Given the description of an element on the screen output the (x, y) to click on. 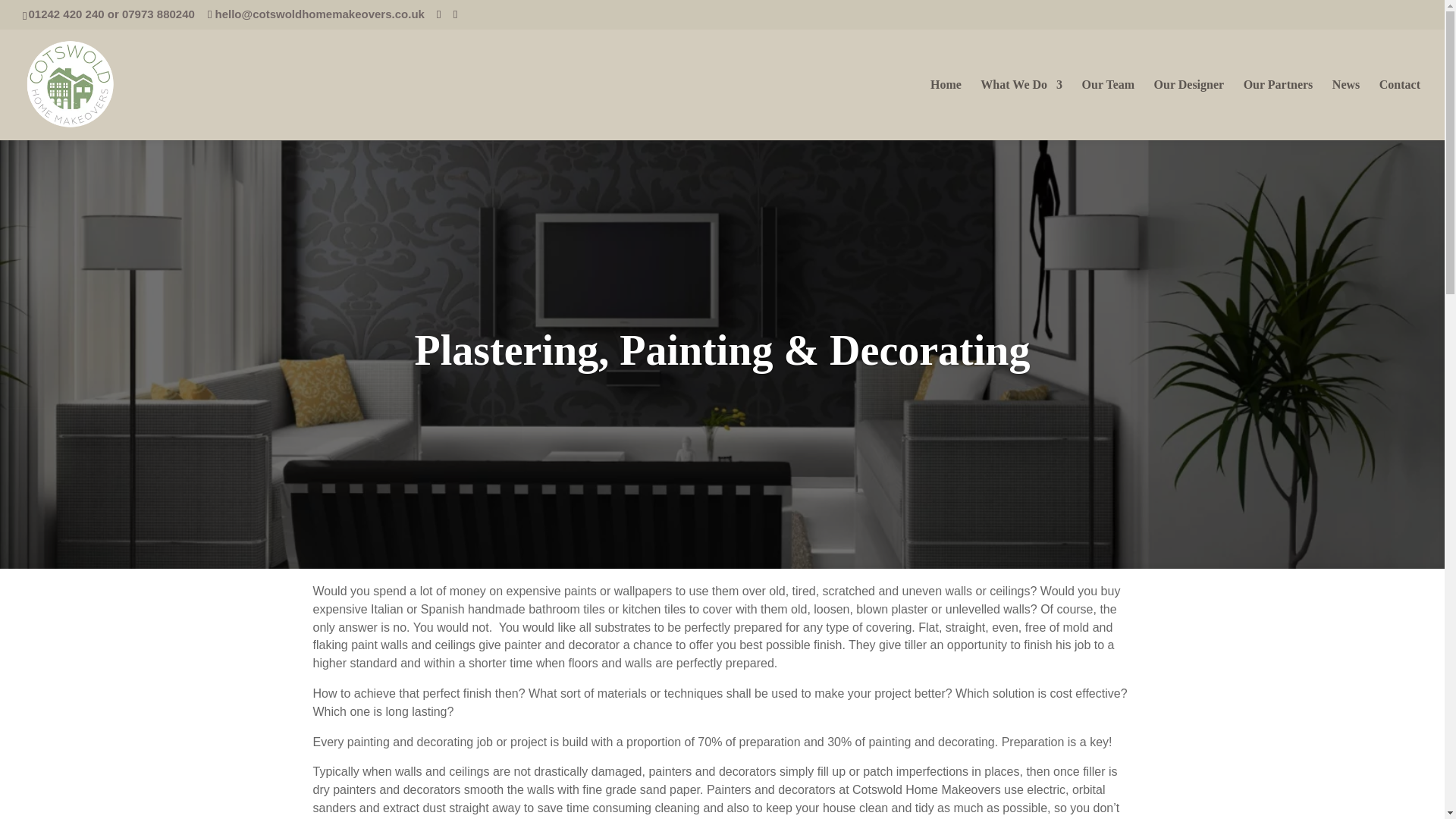
Our Team (1108, 108)
Our Designer (1189, 108)
Home (945, 108)
News (1345, 108)
What We Do (1020, 108)
Our Partners (1278, 108)
Contact (1399, 108)
